Given the description of an element on the screen output the (x, y) to click on. 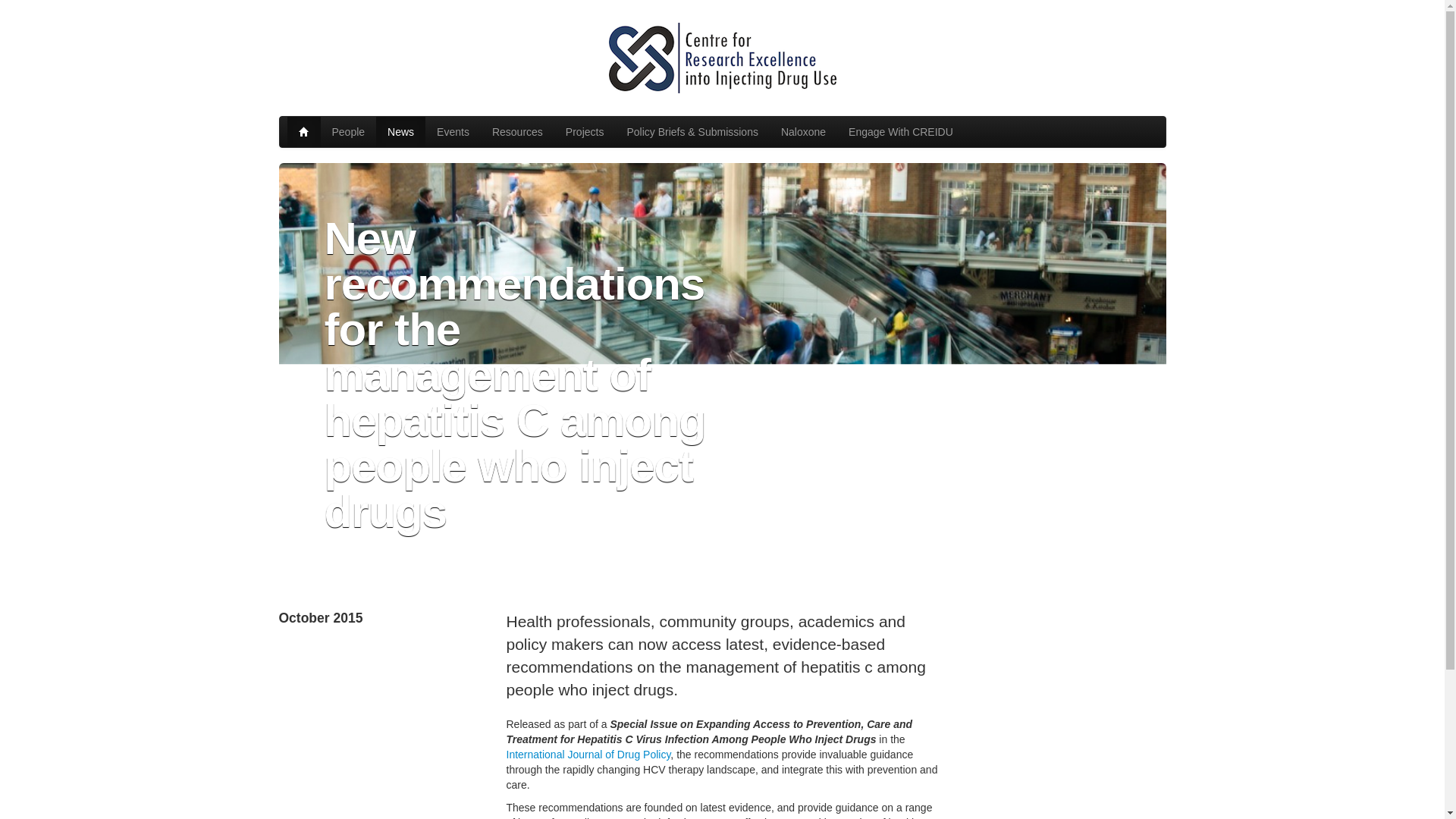
Resources (517, 132)
International Journal of Drug Policy (588, 754)
News (400, 132)
Engage With CREIDU (900, 132)
People (347, 132)
Naloxone (803, 132)
Events (452, 132)
Projects (584, 132)
